Given the description of an element on the screen output the (x, y) to click on. 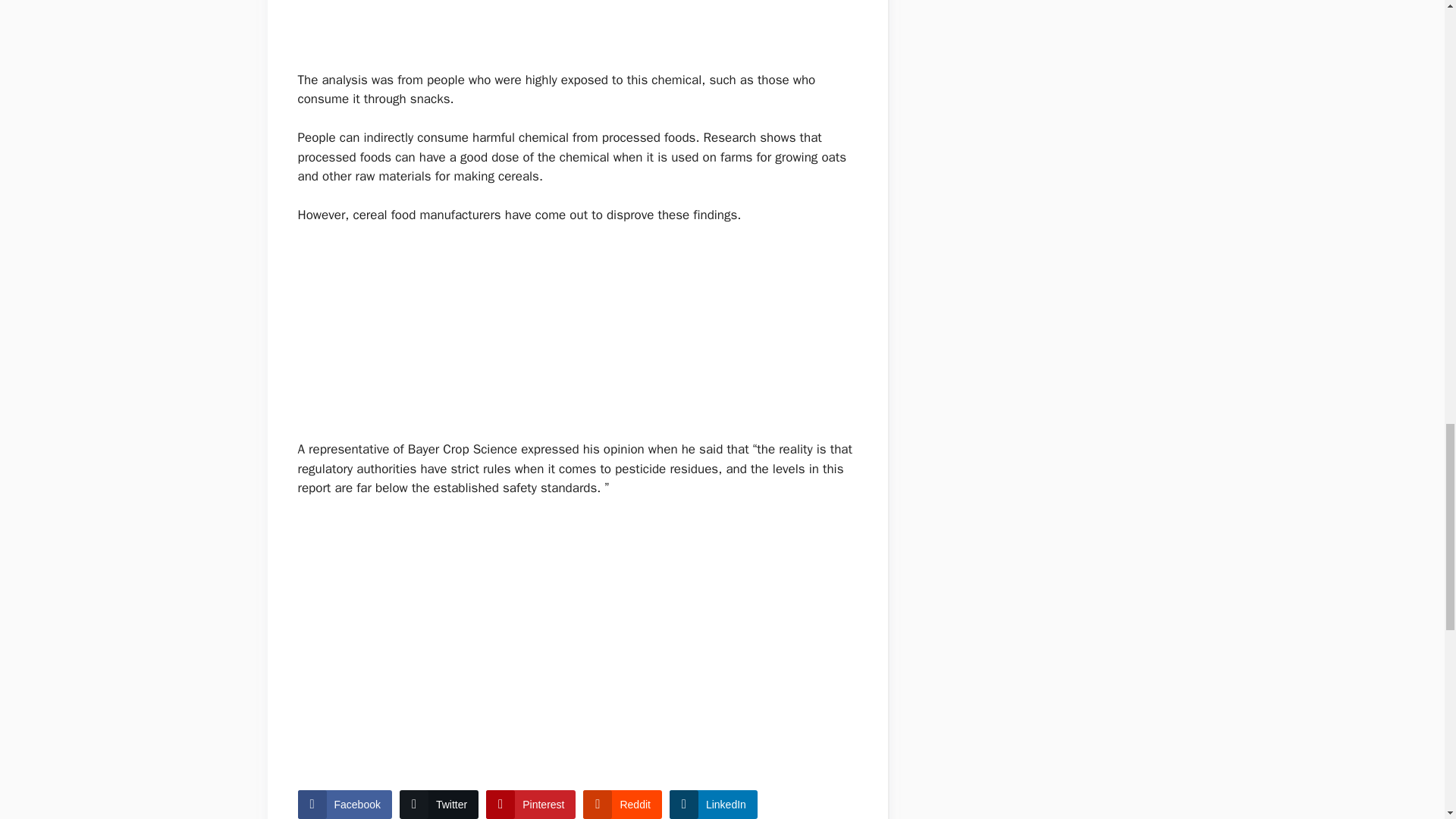
Pinterest (530, 804)
Facebook (344, 804)
Reddit (622, 804)
LinkedIn (713, 804)
Twitter (438, 804)
